Given the description of an element on the screen output the (x, y) to click on. 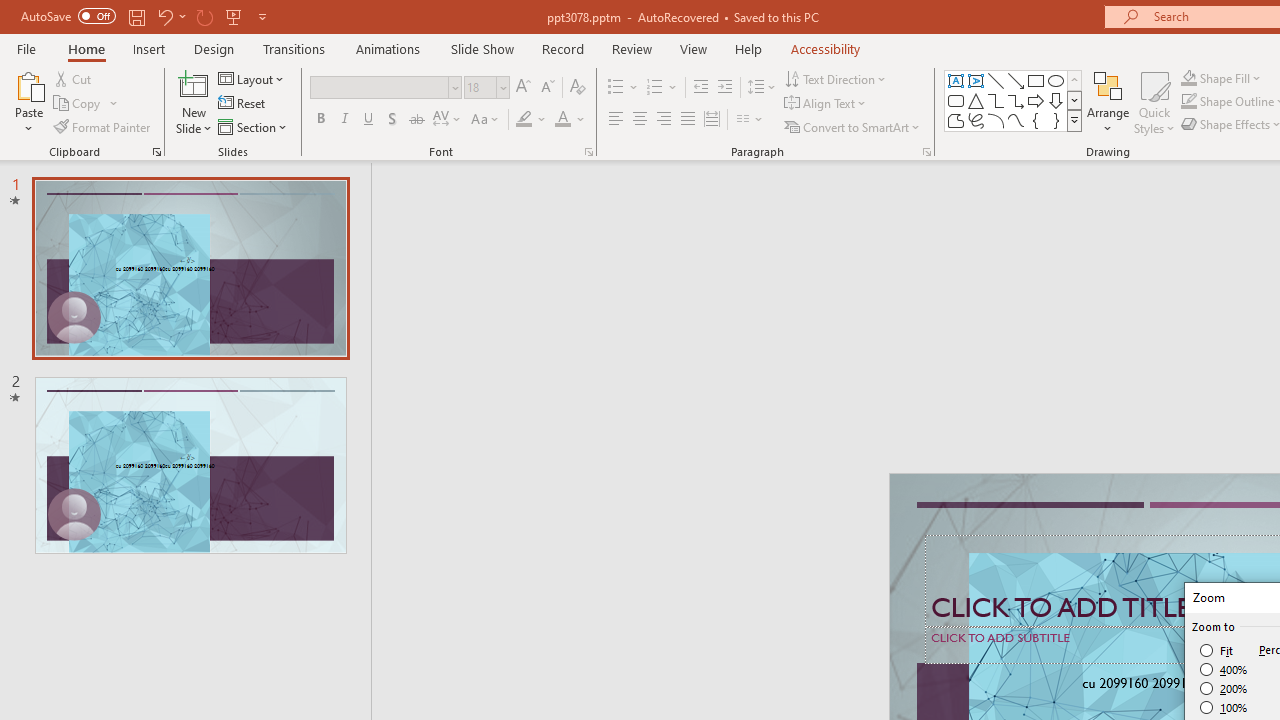
Distributed (712, 119)
Columns (750, 119)
200% (1224, 688)
Strikethrough (416, 119)
Align Text (826, 103)
Font... (588, 151)
